Given the description of an element on the screen output the (x, y) to click on. 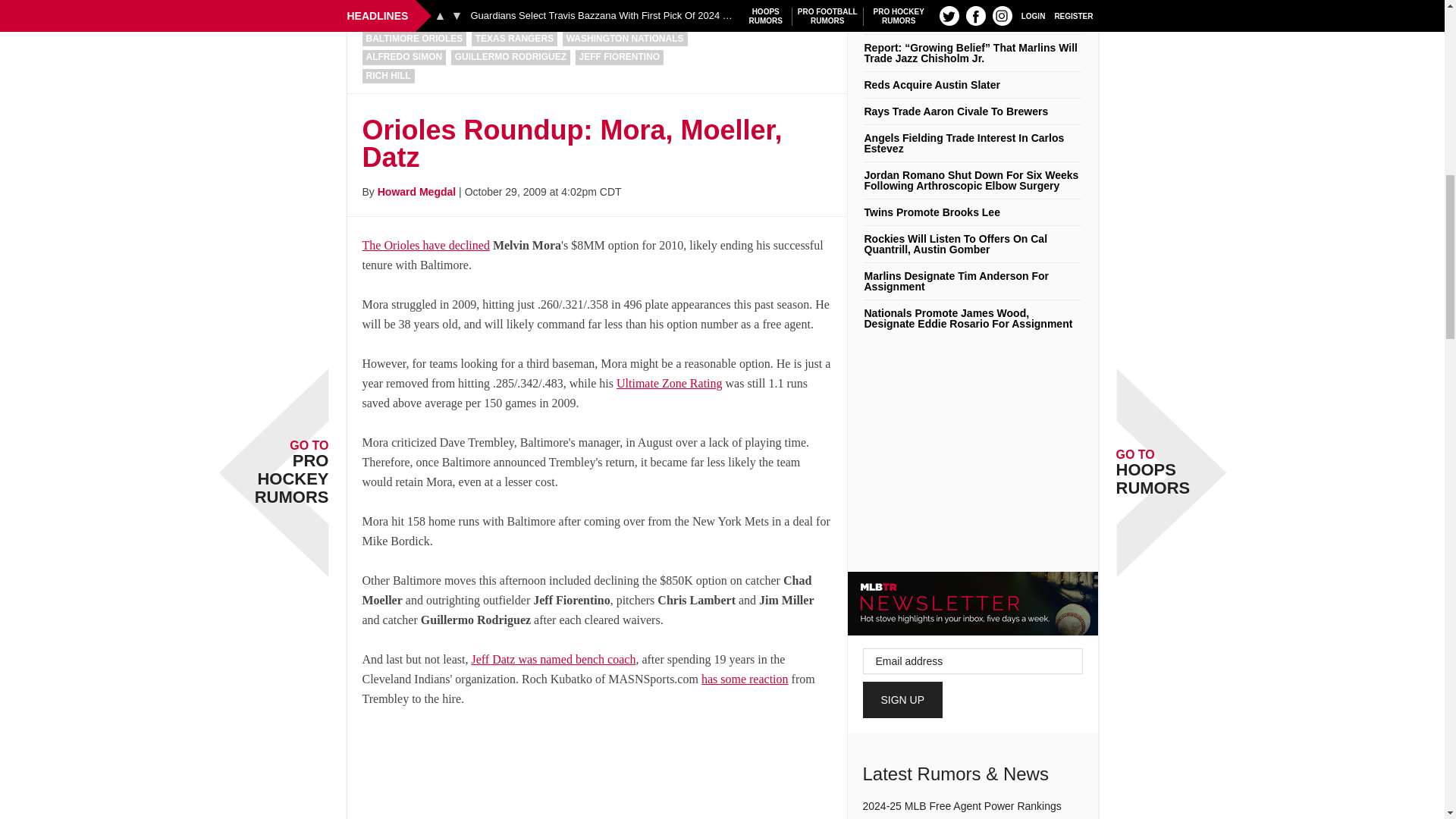
Sign Up (903, 699)
